Given the description of an element on the screen output the (x, y) to click on. 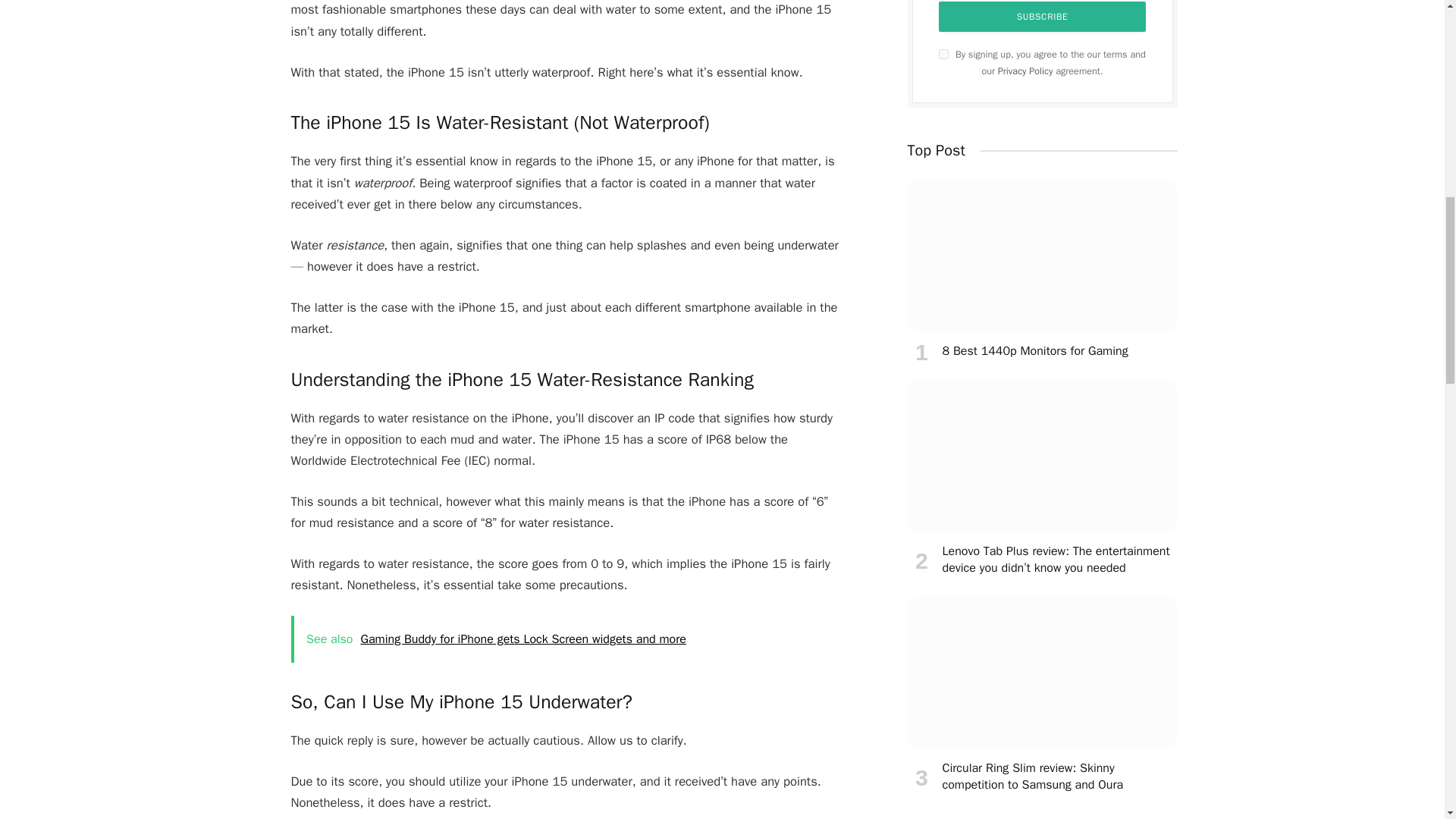
on (944, 53)
Subscribe (1043, 16)
